Given the description of an element on the screen output the (x, y) to click on. 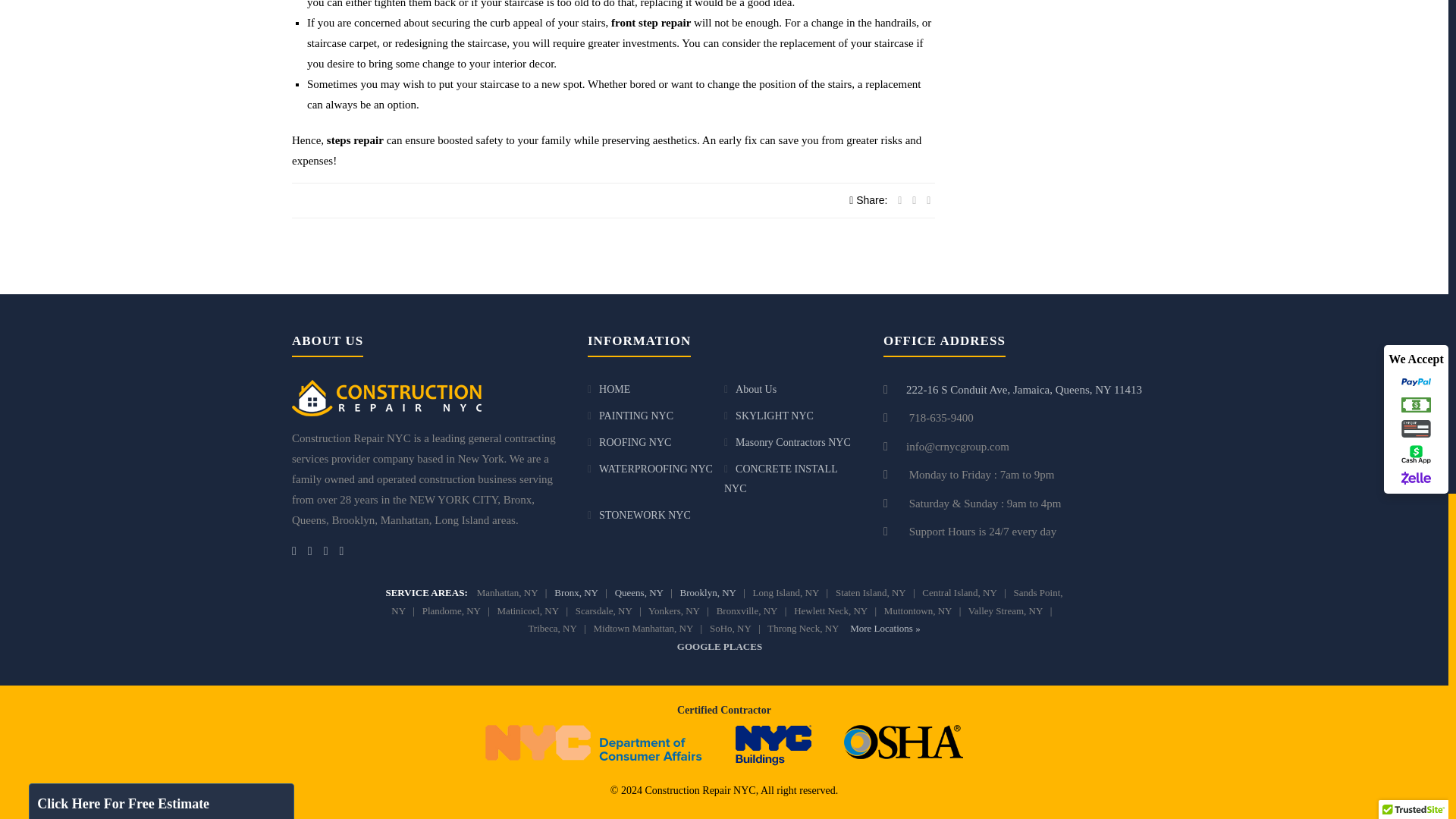
SUBMIT (129, 75)
